Given the description of an element on the screen output the (x, y) to click on. 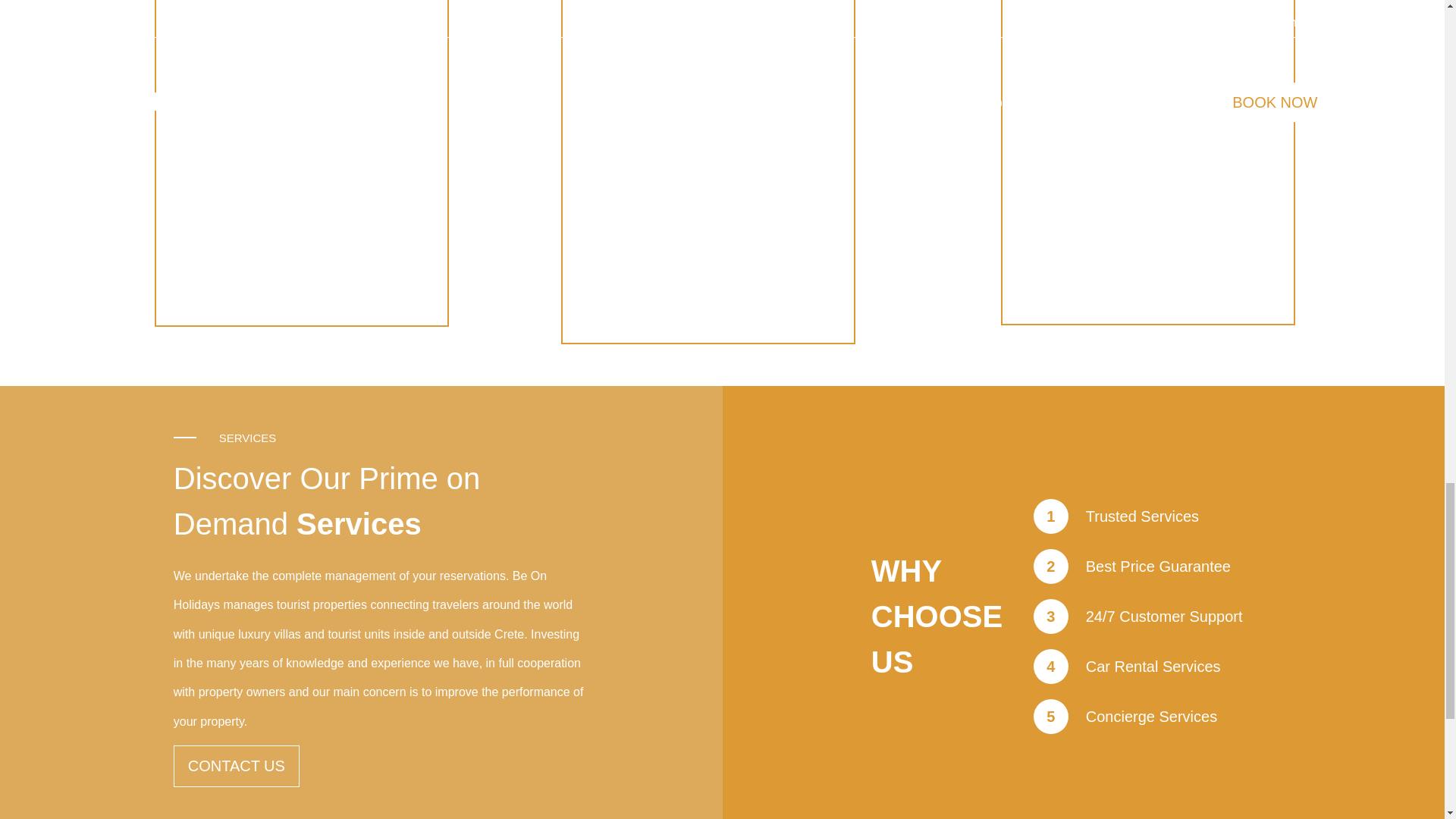
CONTACT US (236, 766)
